Given the description of an element on the screen output the (x, y) to click on. 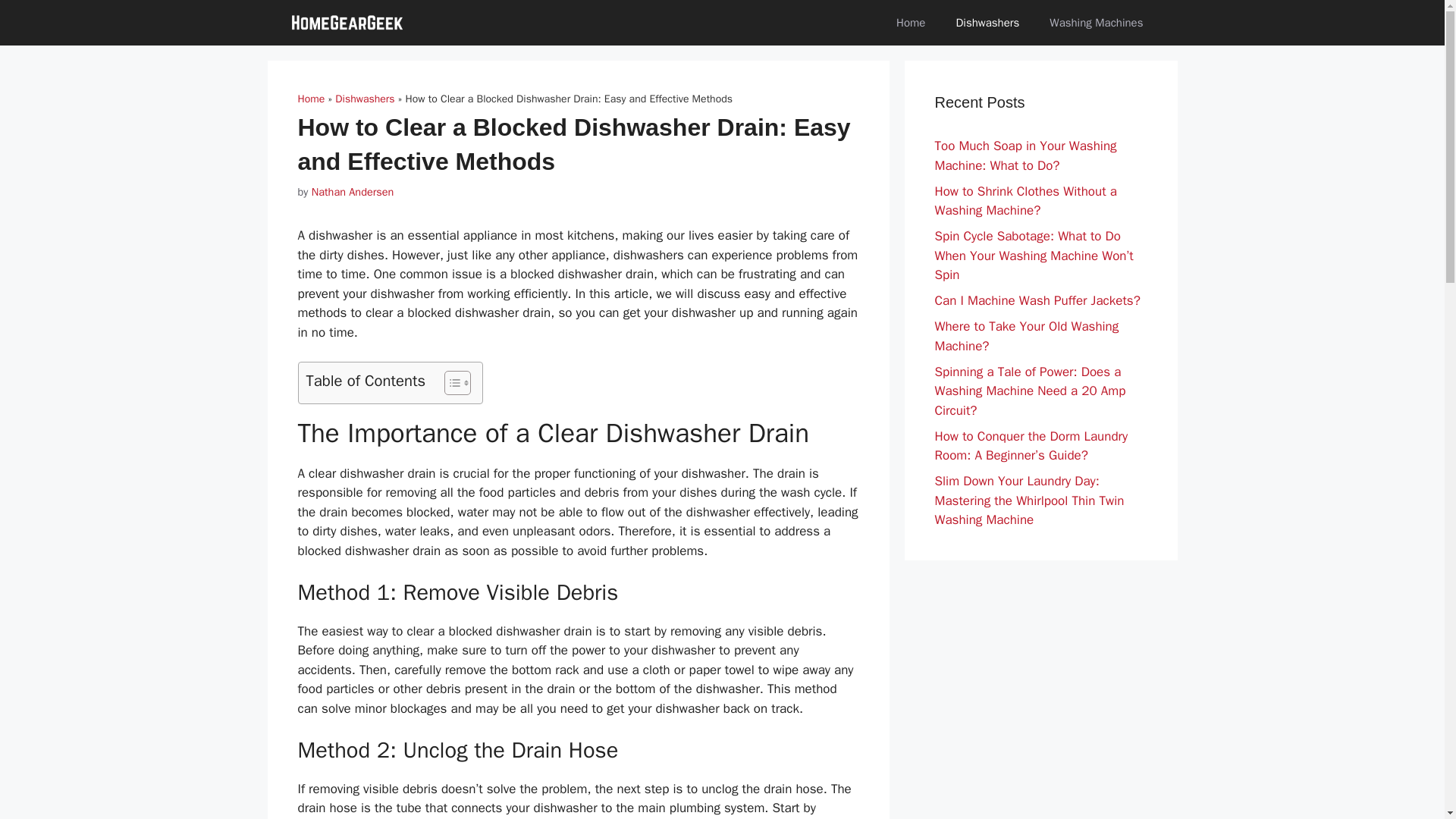
Can I Machine Wash Puffer Jackets? (1037, 300)
Home (310, 98)
HomeGearGeek (346, 22)
Washing Machines (1095, 22)
Dishwashers (986, 22)
Nathan Andersen (352, 192)
View all posts by Nathan Andersen (352, 192)
Too Much Soap in Your Washing Machine: What to Do? (1025, 155)
Where to Take Your Old Washing Machine? (1026, 335)
How to Shrink Clothes Without a Washing Machine? (1025, 201)
Dishwashers (364, 98)
Home (910, 22)
